Given the description of an element on the screen output the (x, y) to click on. 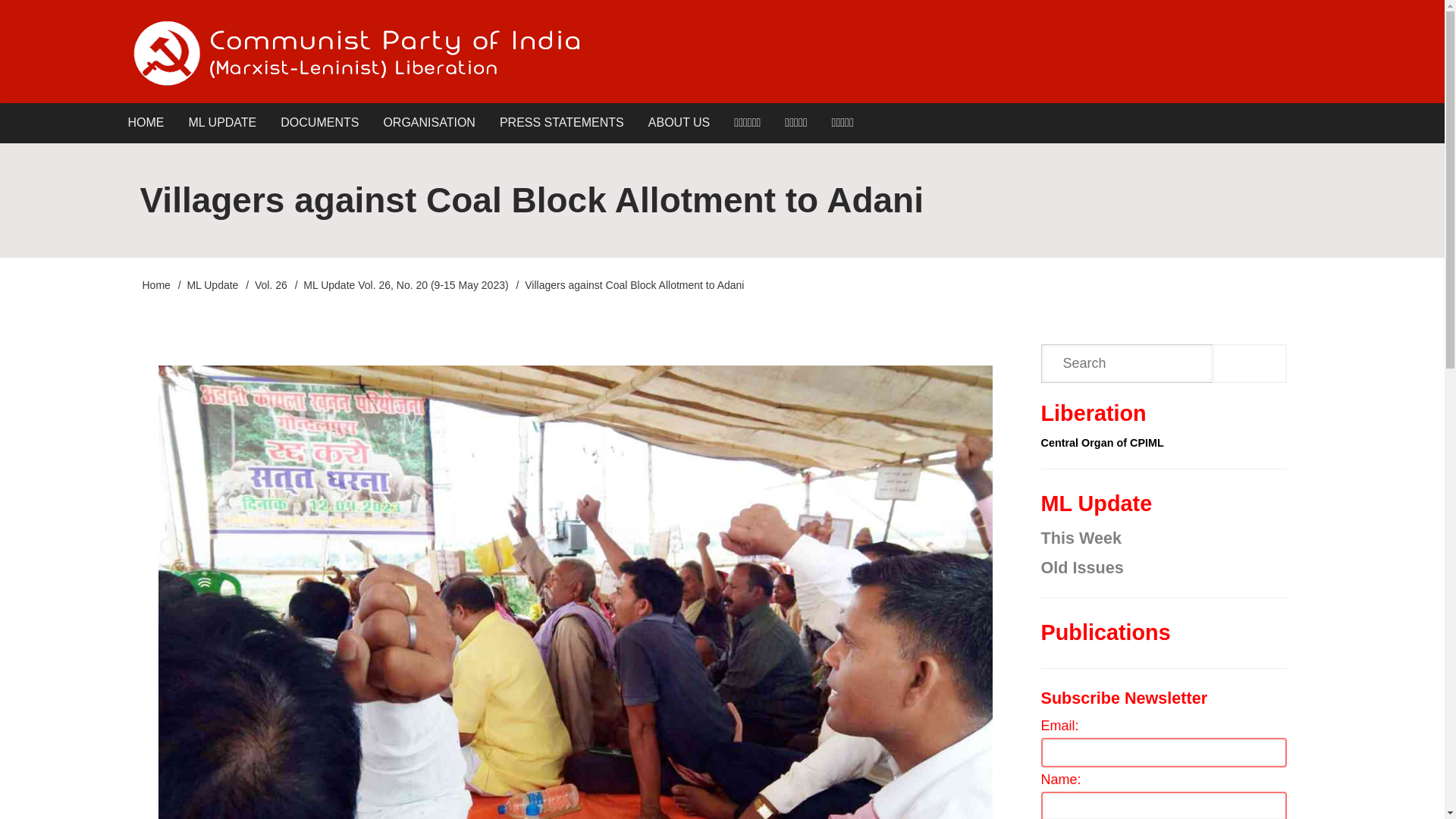
mlupdate link (221, 123)
ML Update (212, 285)
Home (355, 53)
PRESS STATEMENTS (561, 123)
Home (156, 285)
HOME (145, 123)
Press Statements (561, 123)
Vol. 26 (270, 285)
DOCUMENTS (319, 123)
Liberation (1093, 413)
